Given the description of an element on the screen output the (x, y) to click on. 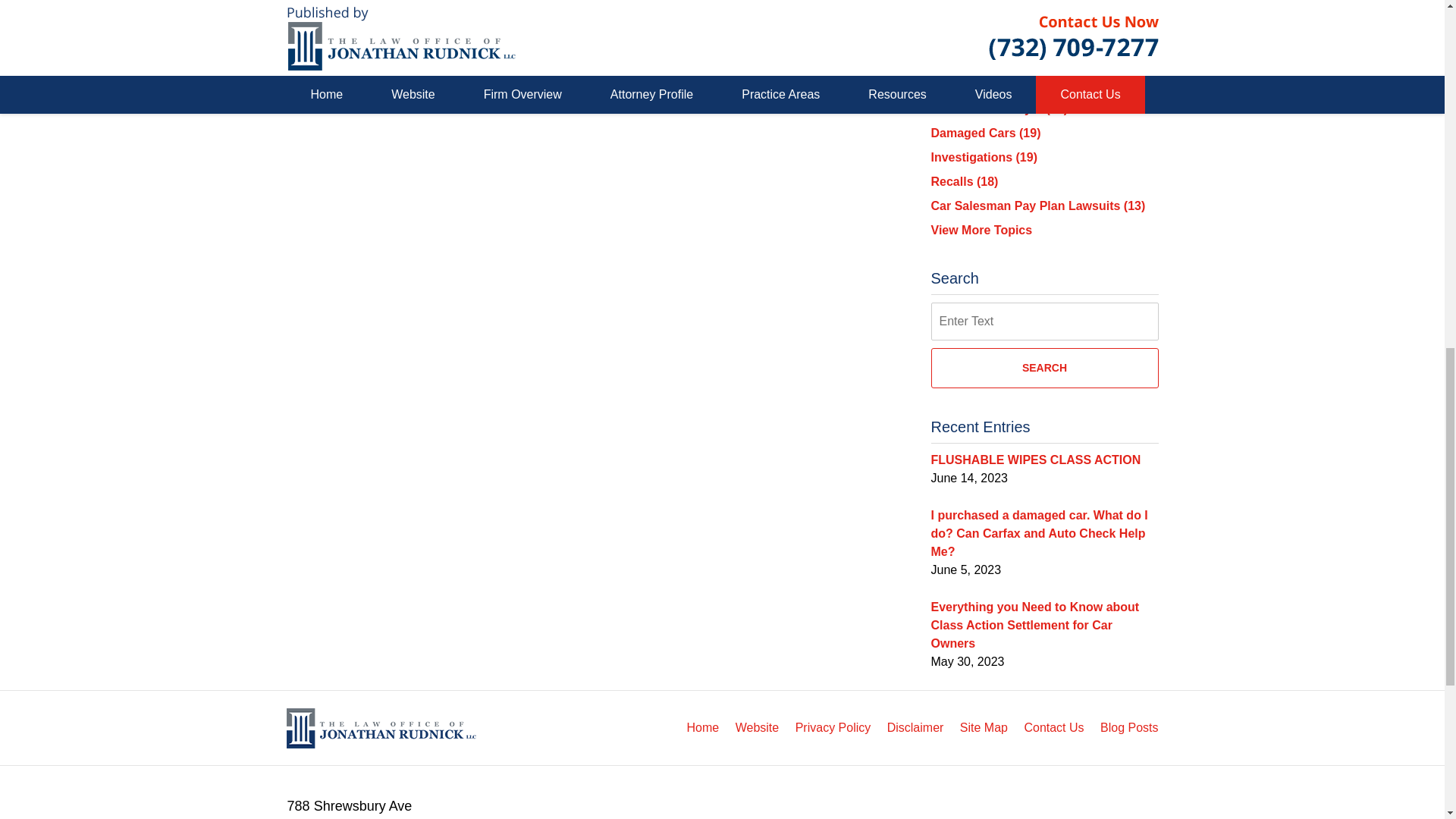
Internal dealership Documents (443, 71)
Fraud and Silence (322, 71)
Home (388, 71)
